Given the description of an element on the screen output the (x, y) to click on. 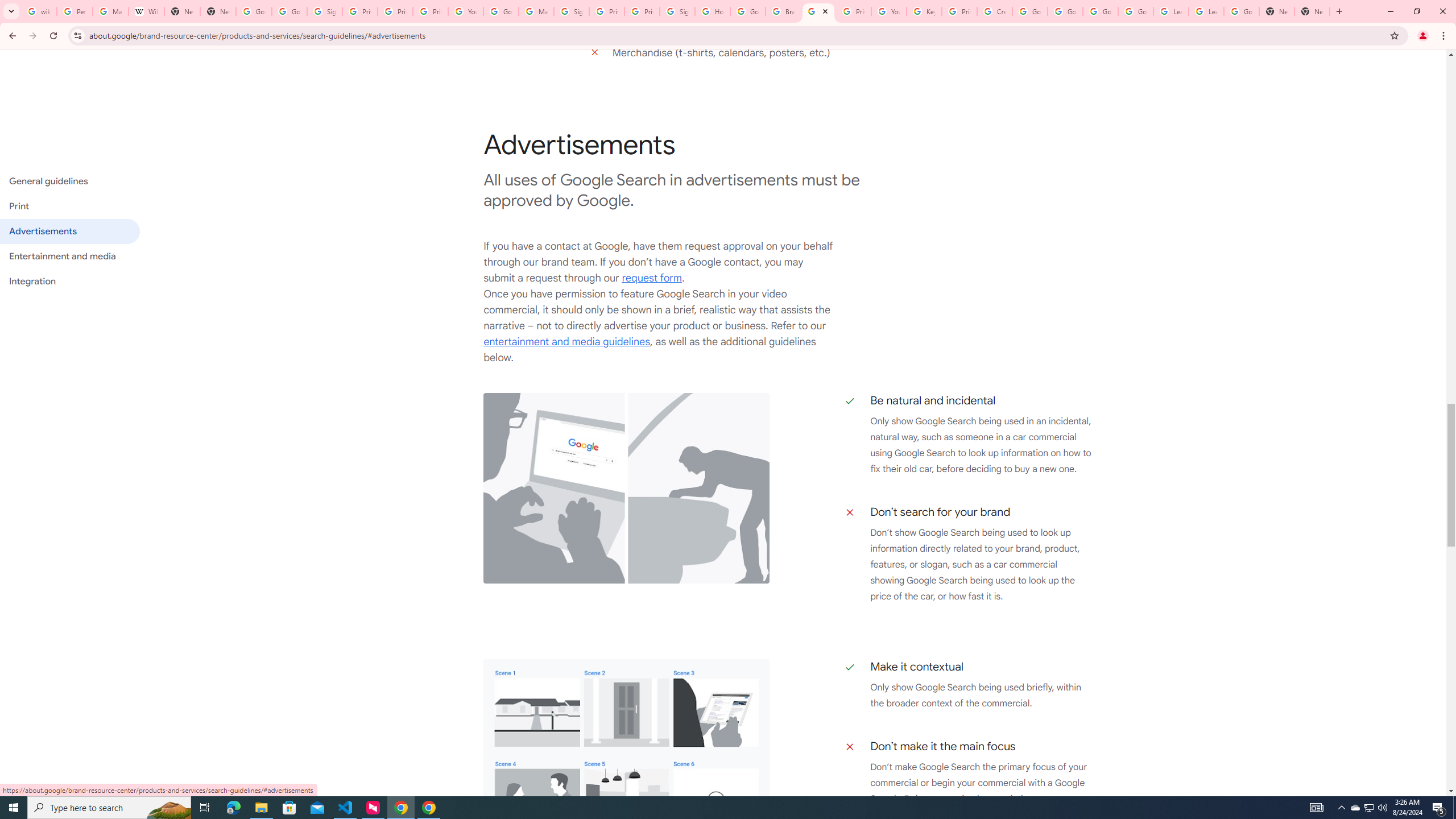
Google Account Help (501, 11)
New Tab (1312, 11)
Advertisements (69, 231)
Google Account Help (1135, 11)
Manage your Location History - Google Search Help (110, 11)
General guidelines (69, 181)
Brand Resource Center (783, 11)
Sign in - Google Accounts (677, 11)
